Given the description of an element on the screen output the (x, y) to click on. 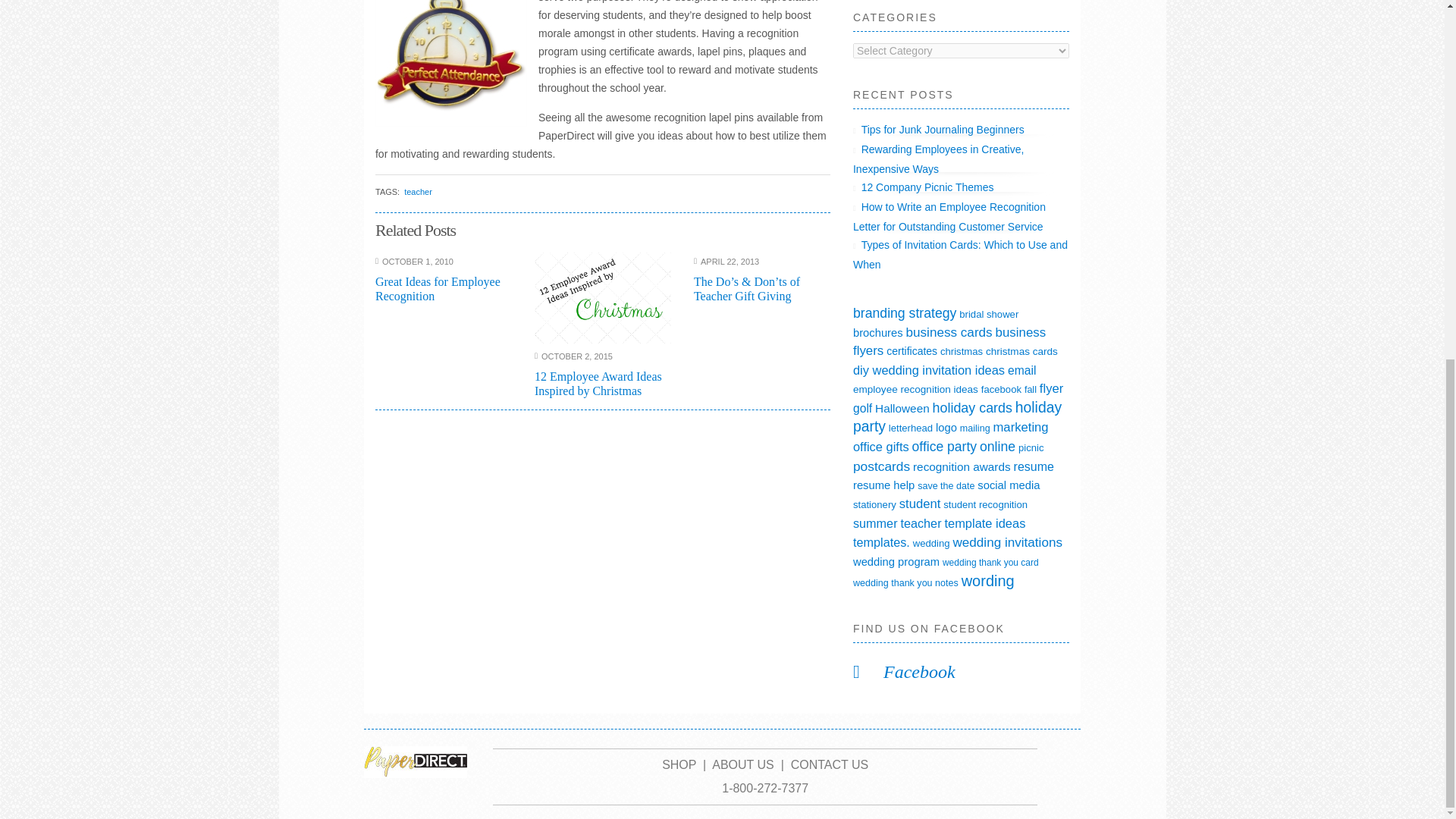
Perfect Attendance Pin (451, 63)
Contact Us (829, 764)
About Us (742, 764)
